Given the description of an element on the screen output the (x, y) to click on. 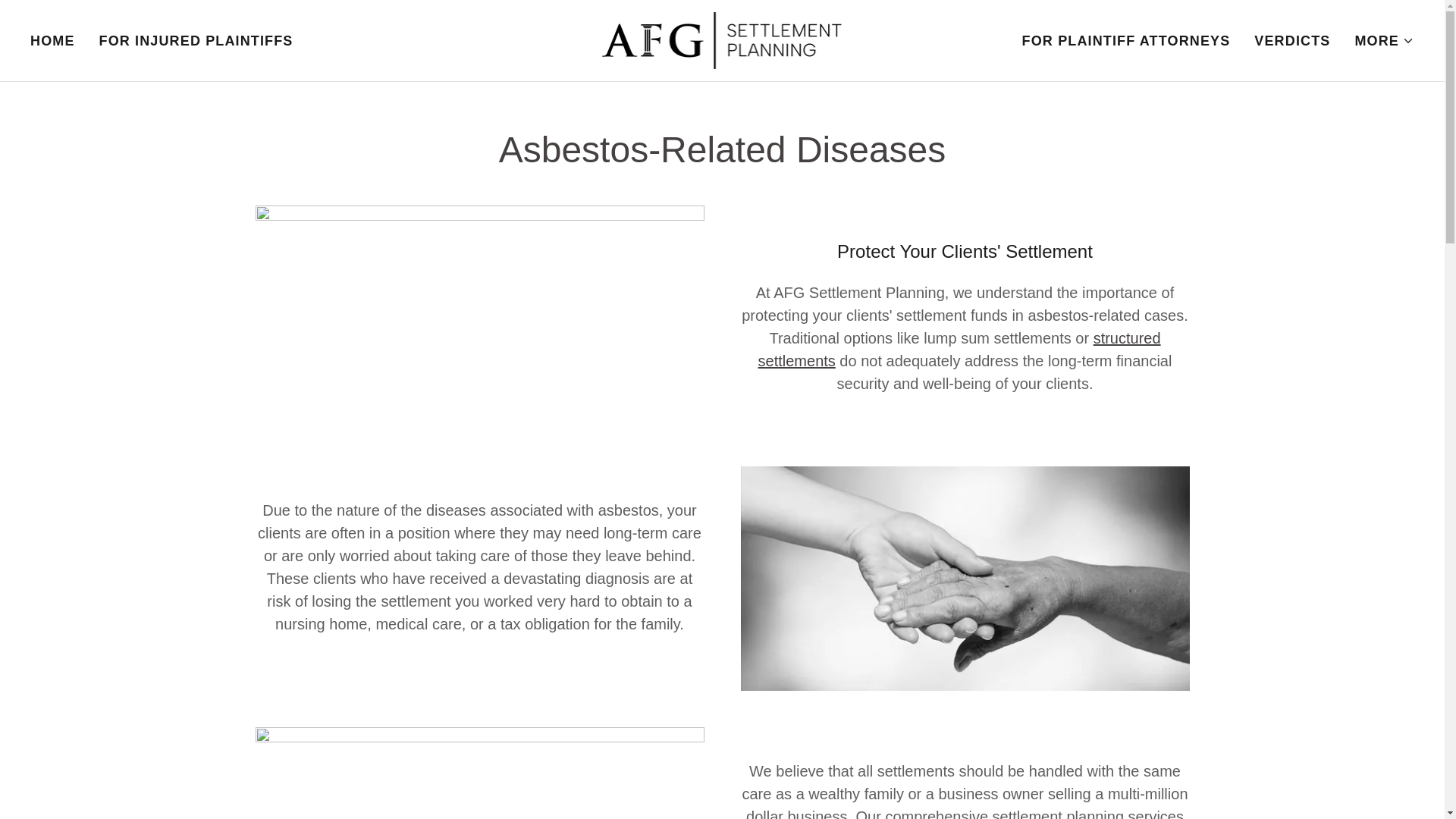
FOR INJURED PLAINTIFFS (196, 40)
VERDICTS (1292, 40)
MORE (1383, 40)
HOME (53, 40)
AFG Settlement Planning (722, 38)
structured settlements (959, 349)
FOR PLAINTIFF ATTORNEYS (1125, 40)
